Given the description of an element on the screen output the (x, y) to click on. 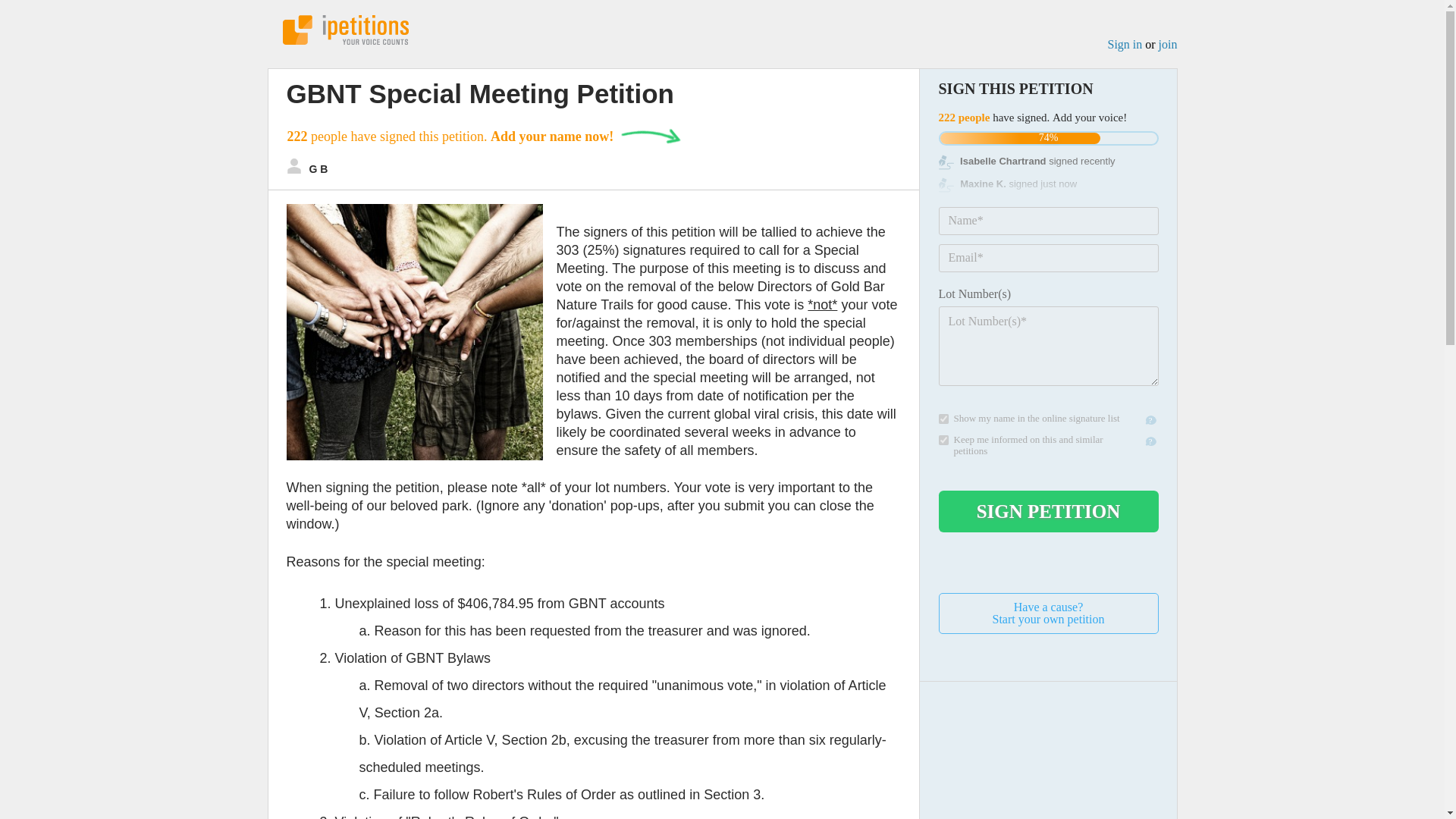
1 (944, 439)
join (1167, 43)
Sign in (1123, 43)
1 (944, 419)
SIGN PETITION (1048, 511)
iPetitions (344, 30)
